Given the description of an element on the screen output the (x, y) to click on. 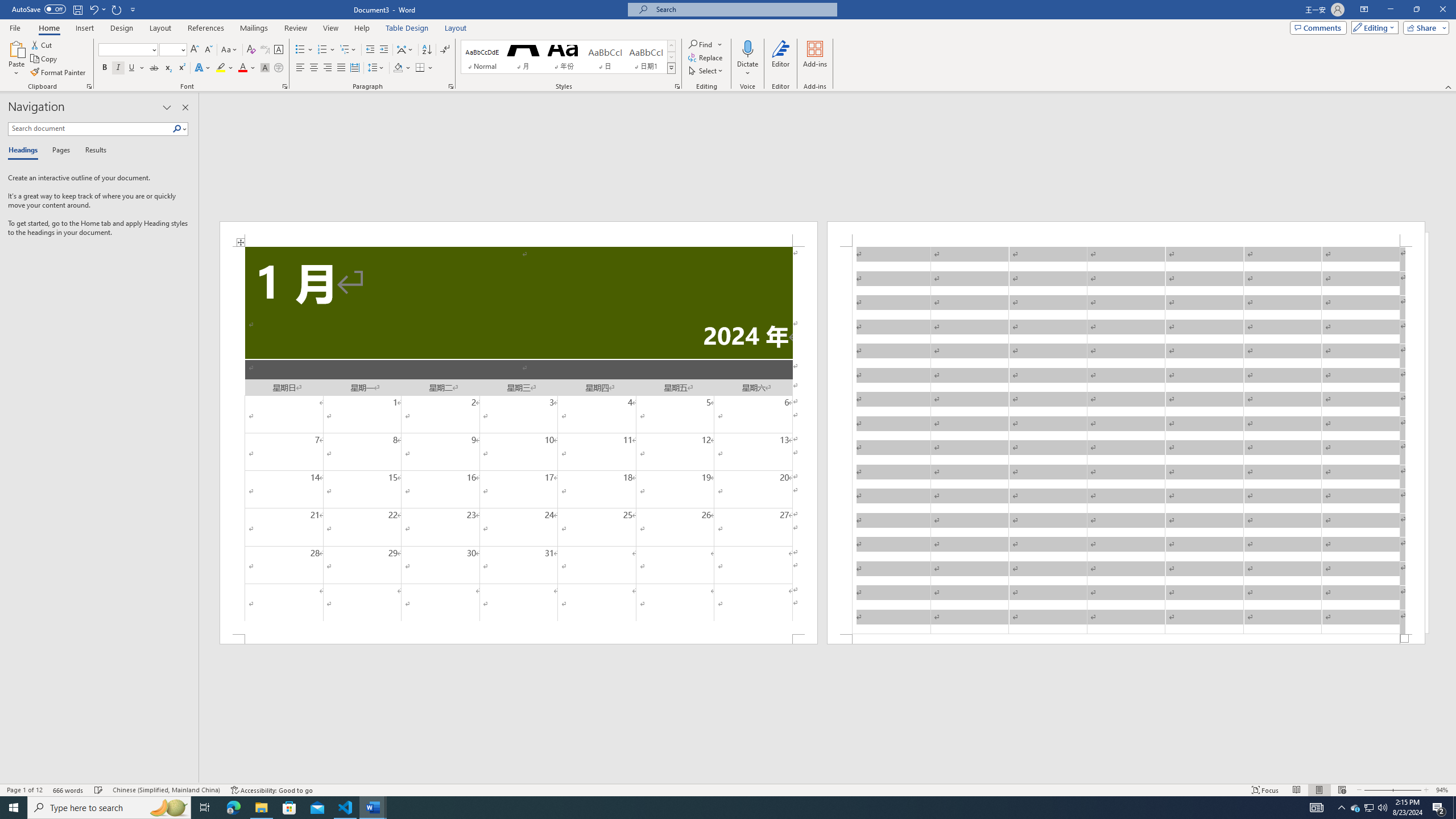
Change Case (229, 49)
Font Color RGB(255, 0, 0) (241, 67)
Multilevel List (347, 49)
Font Color (246, 67)
Text Highlight Color (224, 67)
Word Count 666 words (68, 790)
Justify (340, 67)
Strikethrough (154, 67)
